Given the description of an element on the screen output the (x, y) to click on. 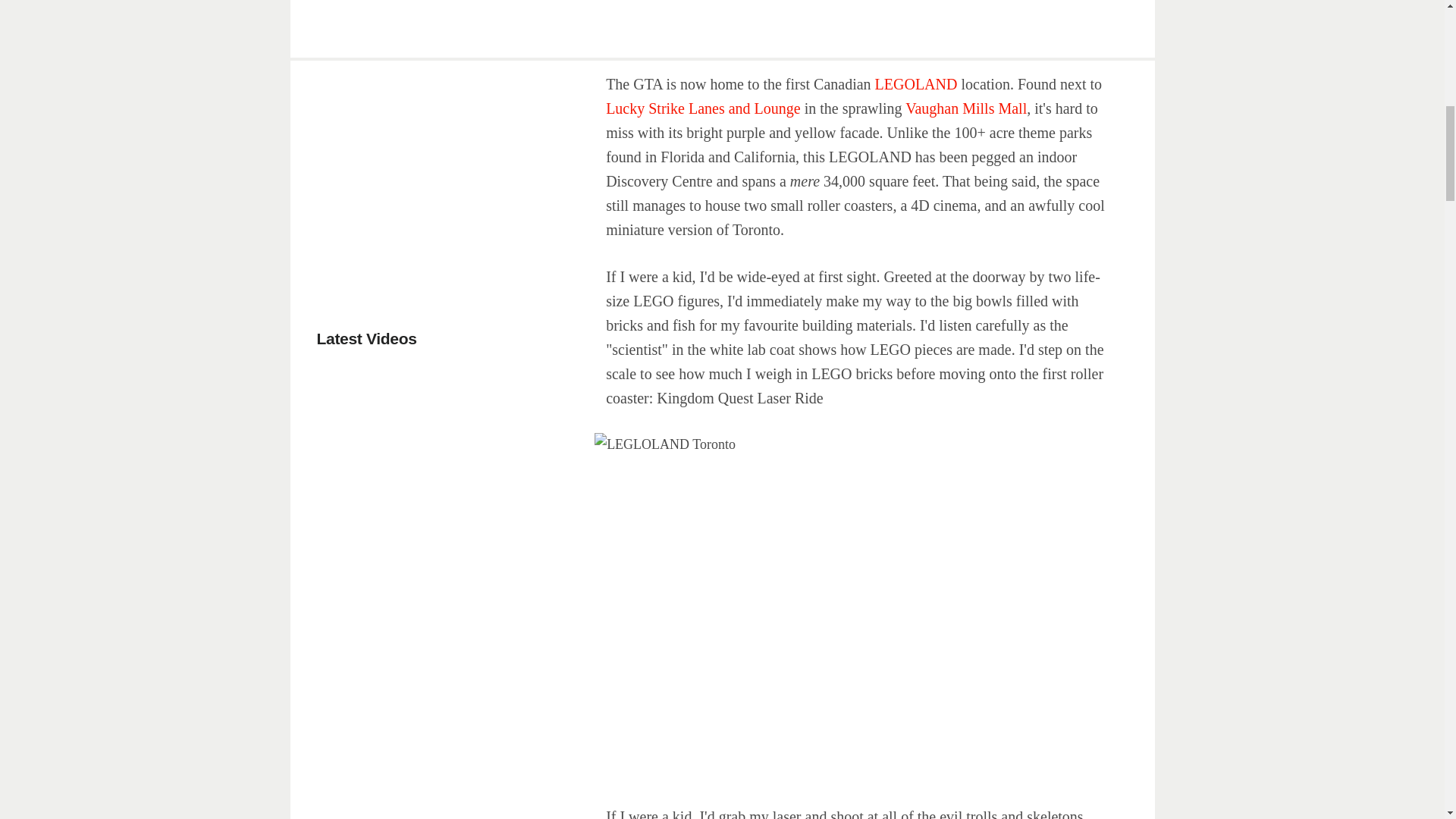
LEGOLAND (917, 84)
Vaughan Mills Mall (965, 108)
Lucky Strike Lanes and Lounge (702, 108)
